Given the description of an element on the screen output the (x, y) to click on. 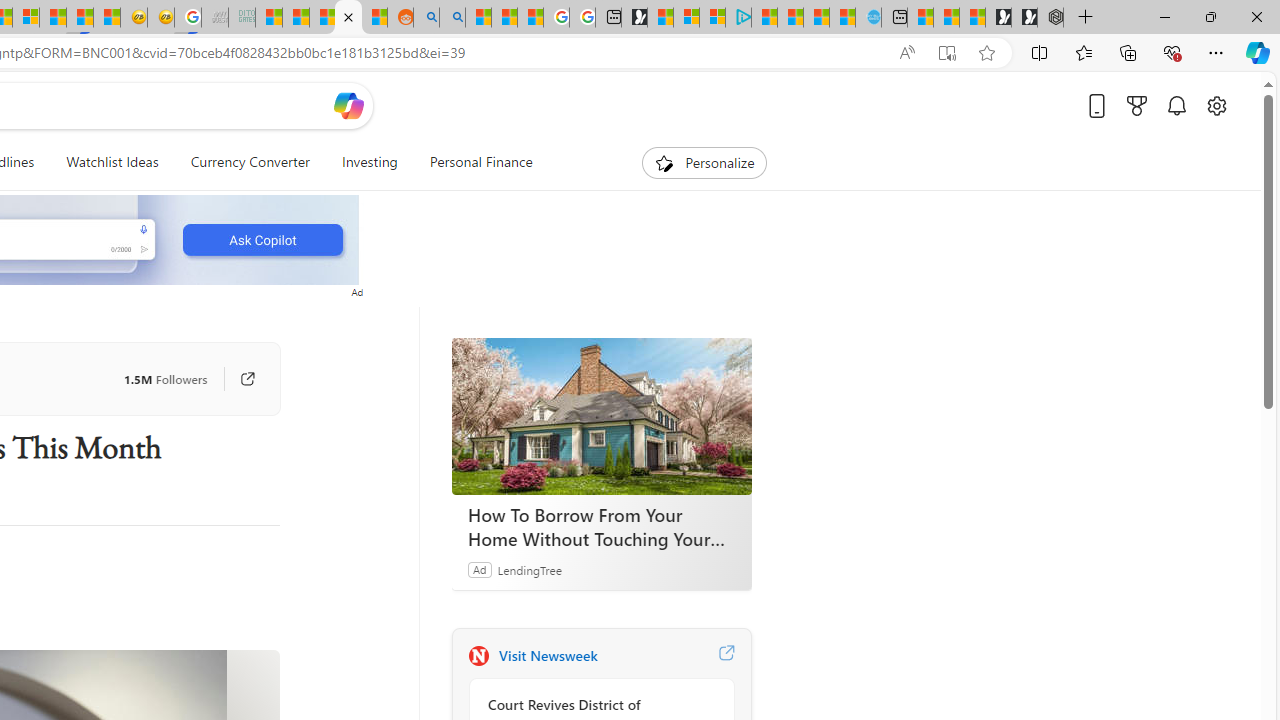
Newsweek (478, 655)
Personal Finance (480, 162)
